Given the description of an element on the screen output the (x, y) to click on. 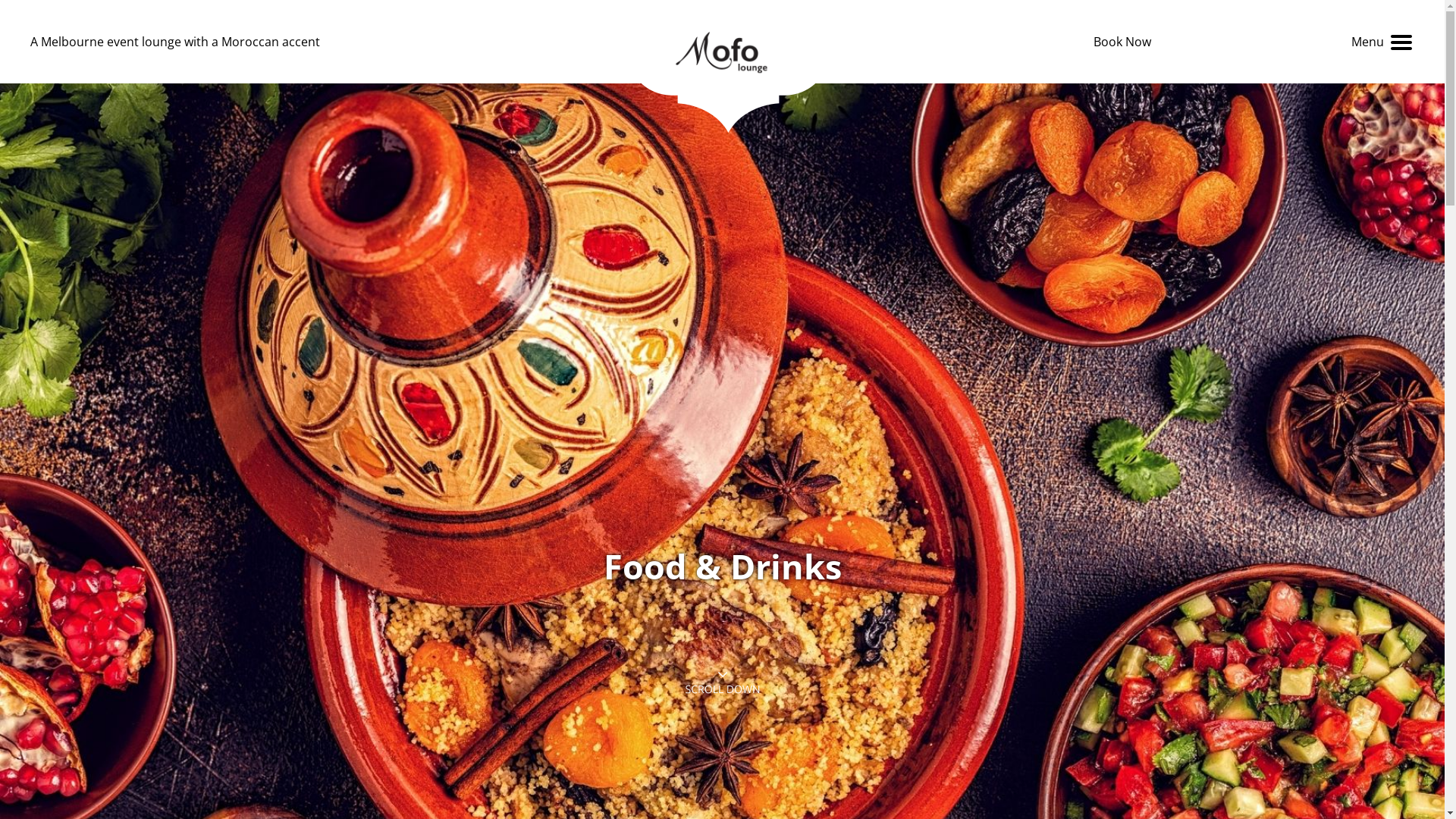
Book Now Element type: text (1122, 41)
